Given the description of an element on the screen output the (x, y) to click on. 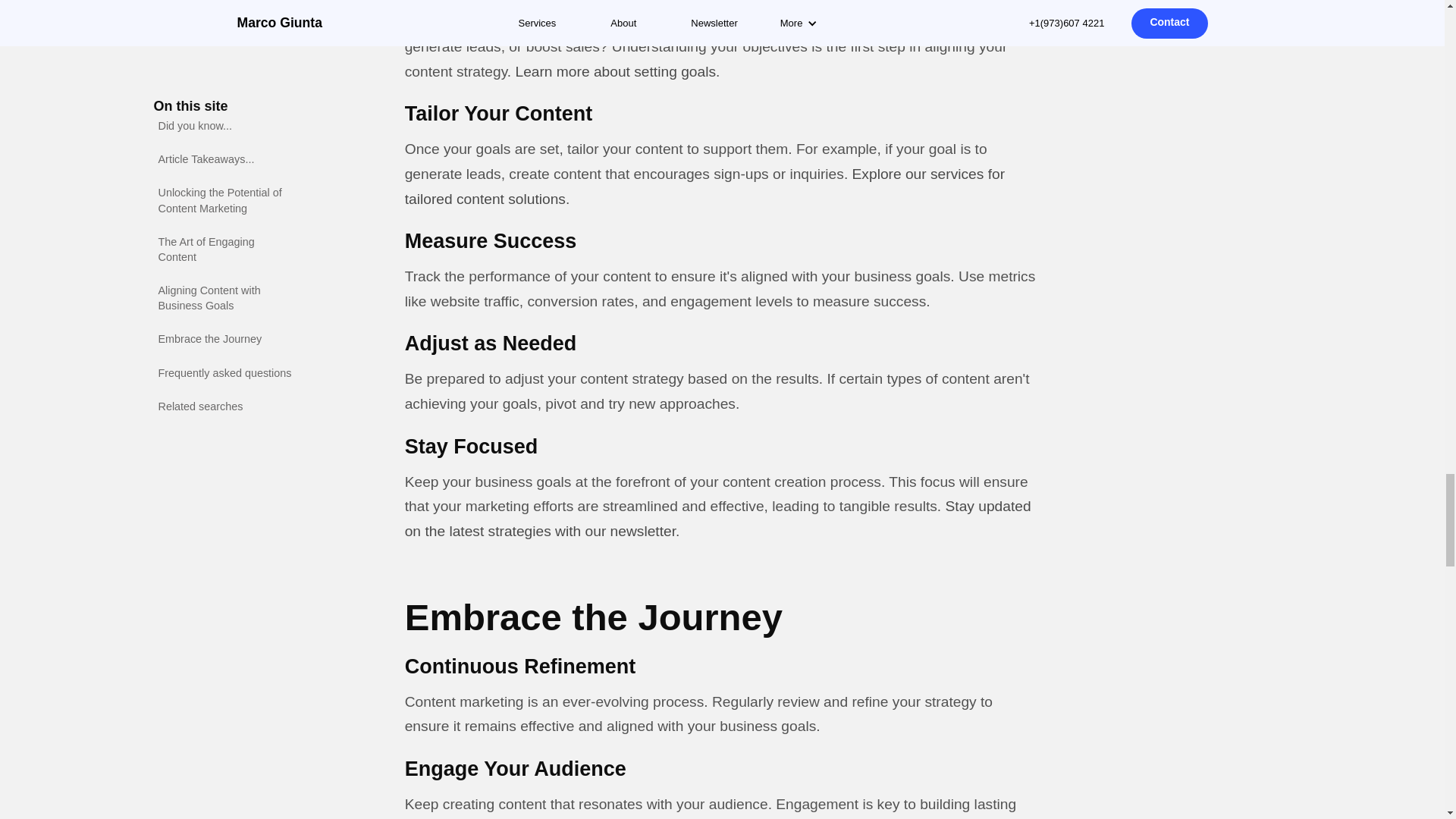
Learn more about setting goals (615, 71)
Stay updated on the latest strategies with our newsletter (717, 517)
Explore our services for tailored content solutions (704, 186)
